Given the description of an element on the screen output the (x, y) to click on. 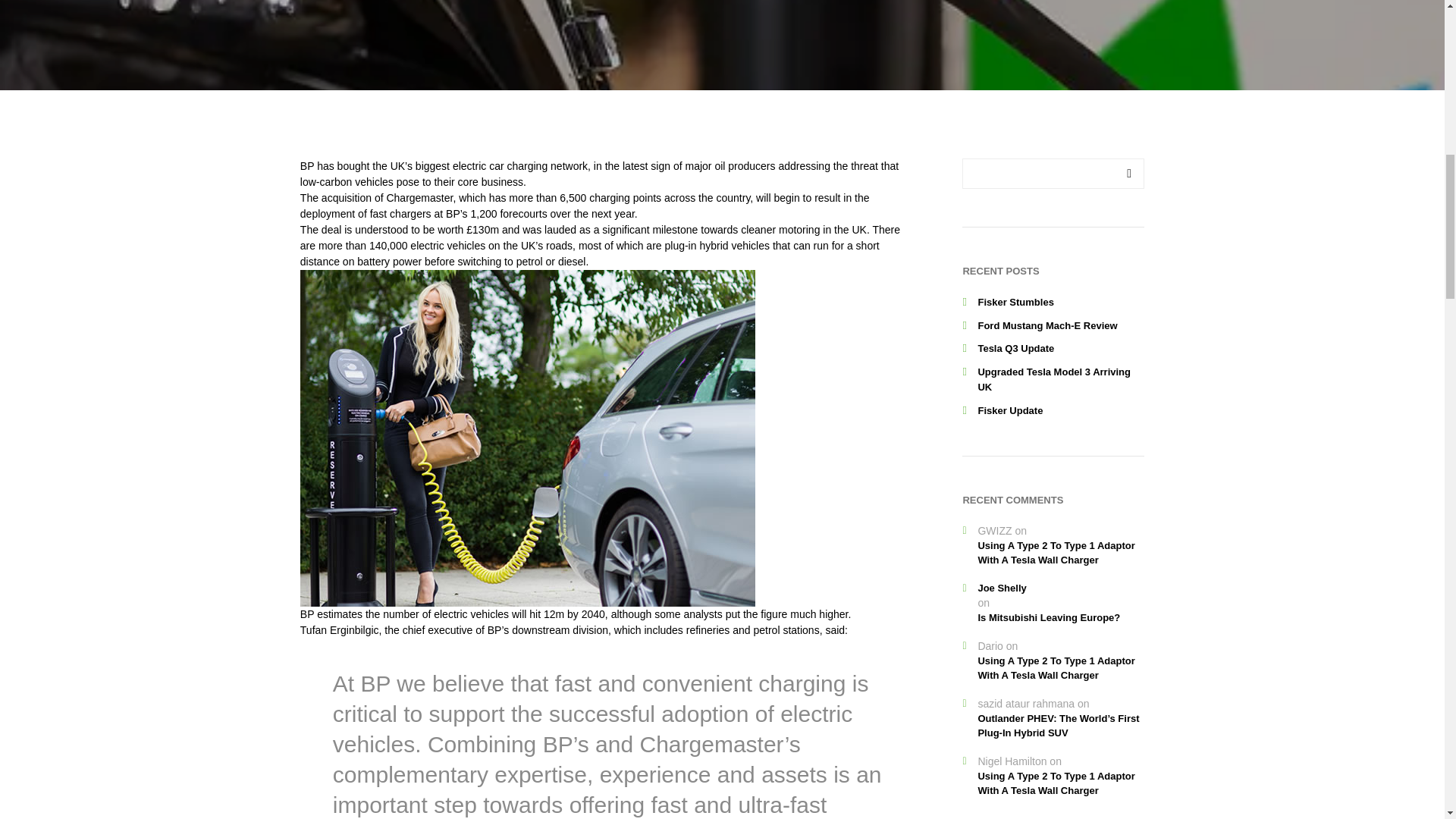
Search (1128, 173)
Search (1128, 173)
